Given the description of an element on the screen output the (x, y) to click on. 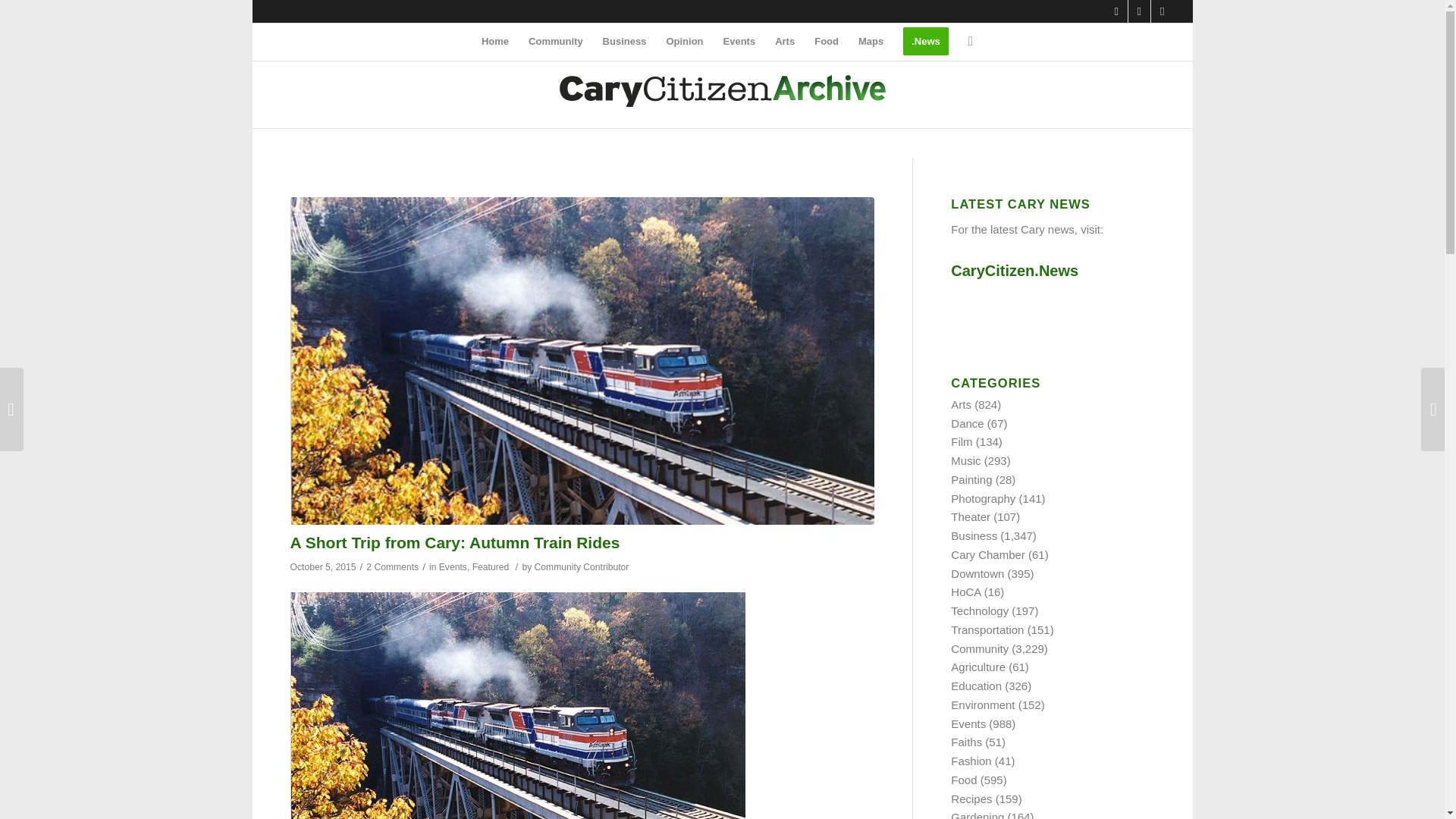
2 Comments (392, 566)
Arts (785, 41)
Community (555, 41)
Posts by Community Contributor (581, 566)
Home (494, 41)
Events (453, 566)
Business (624, 41)
A Short Trip from Cary: Autumn Train Rides (454, 542)
Community Contributor (581, 566)
